Given the description of an element on the screen output the (x, y) to click on. 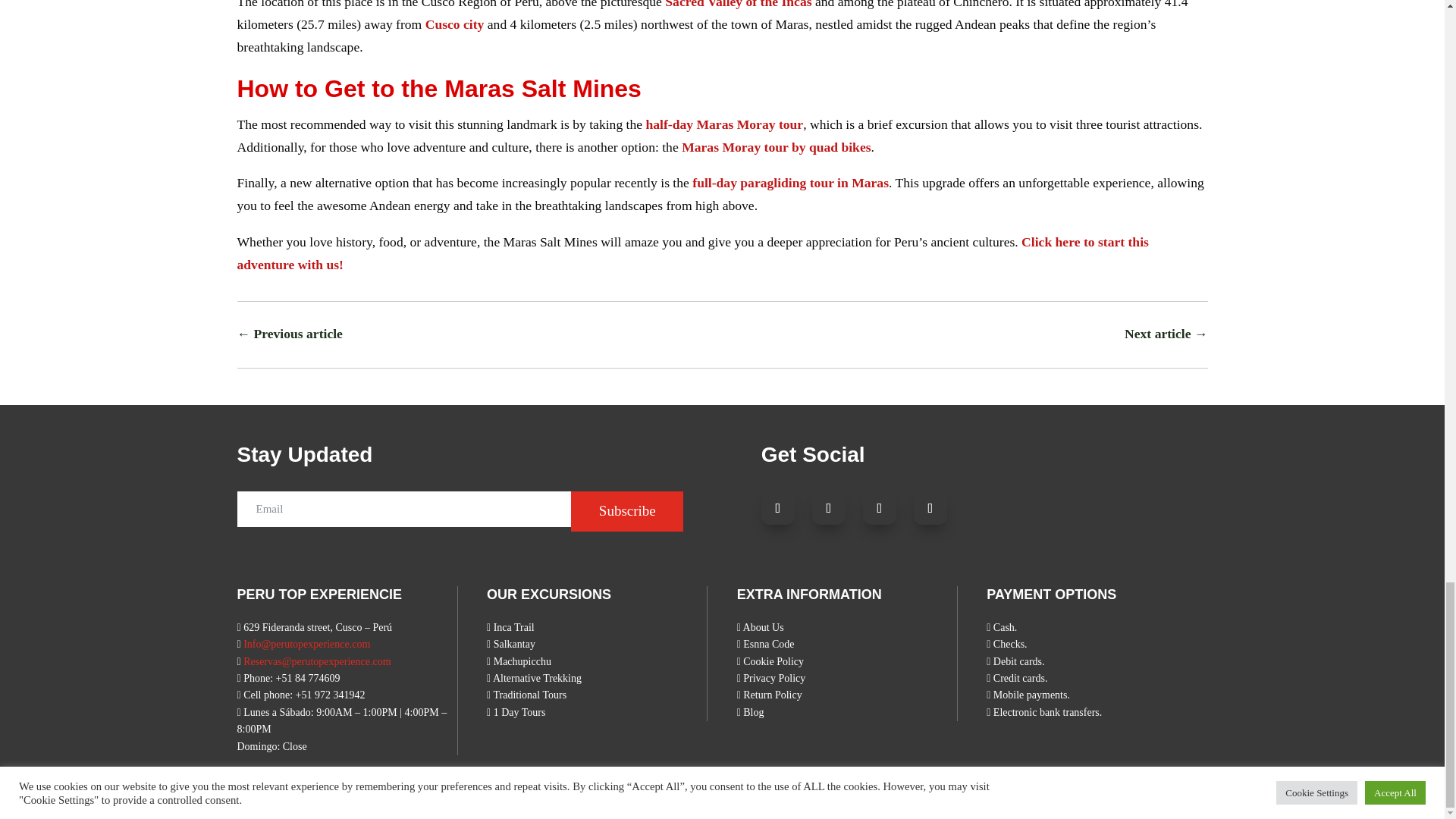
Follow on TripAdvisor (930, 507)
Follow on Instagram (828, 507)
Follow on TikTok (879, 507)
Follow on Facebook (777, 507)
